Given the description of an element on the screen output the (x, y) to click on. 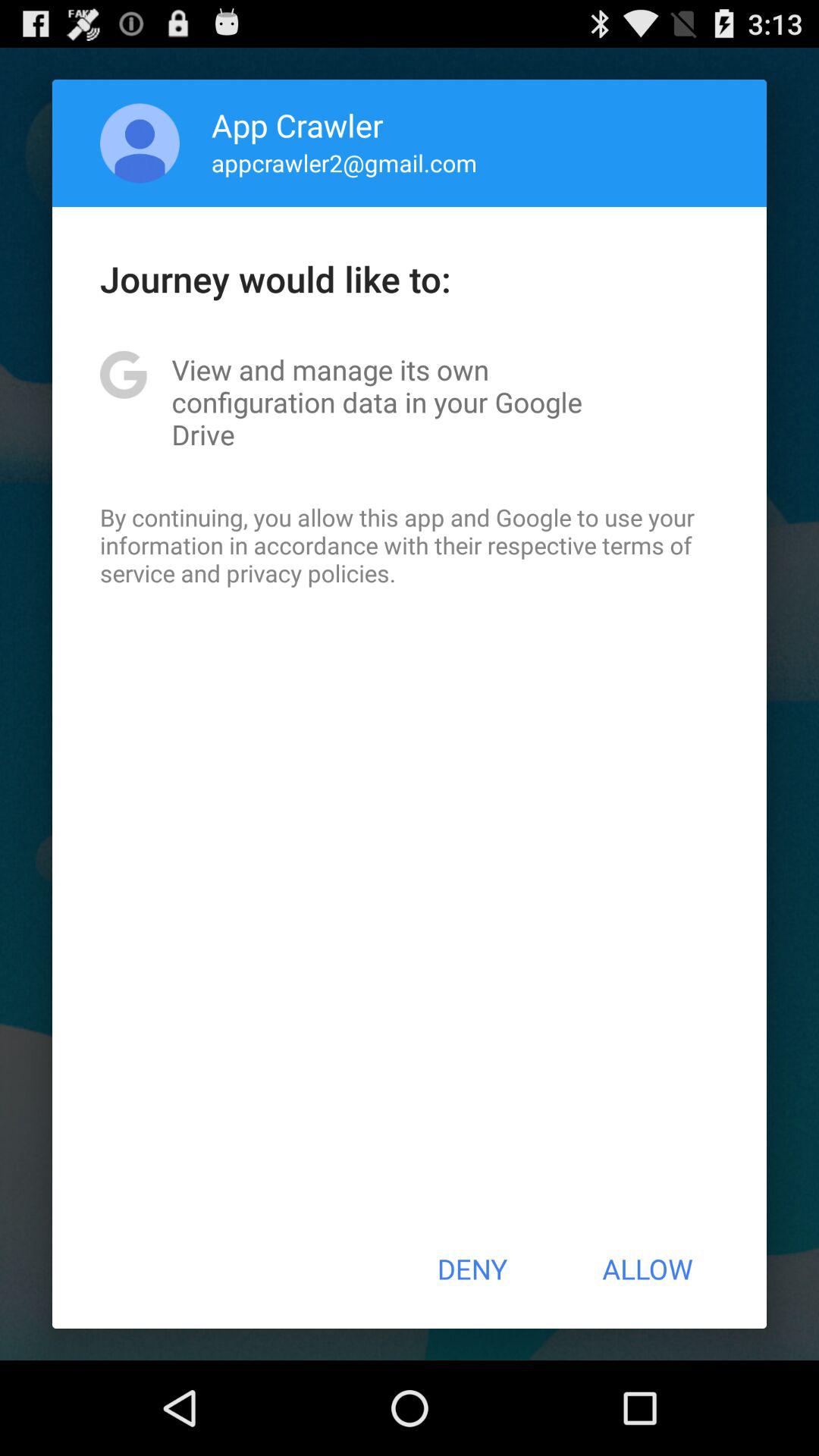
launch app next to the app crawler (139, 143)
